Given the description of an element on the screen output the (x, y) to click on. 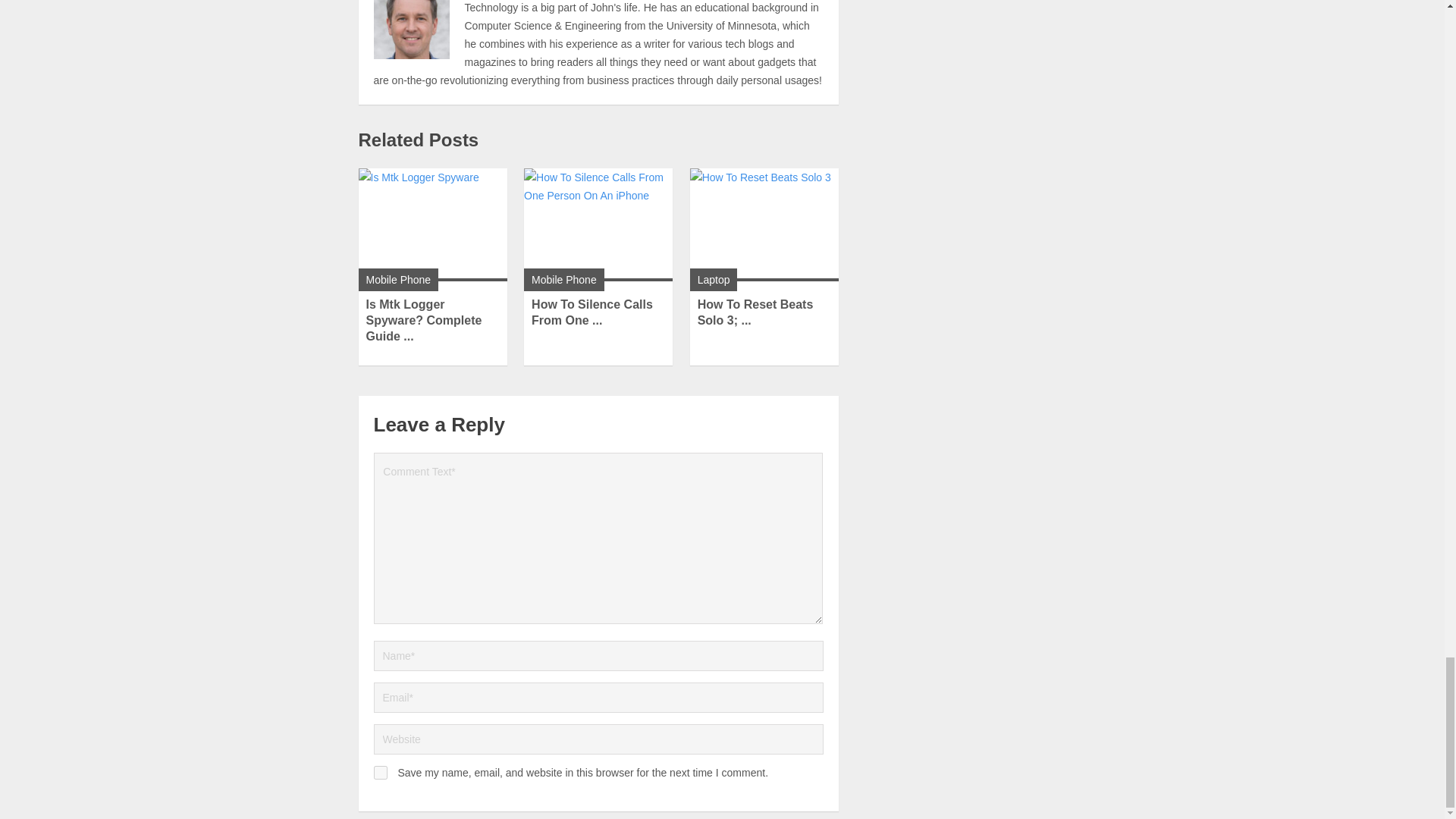
How To Silence Calls From One Person On An iPhone (591, 312)
View all posts in Mobile Phone (397, 279)
Is Mtk Logger Spyware? Complete Guide on All Things Malware (423, 320)
Is Mtk Logger Spyware? Complete Guide on All Things Malware (432, 224)
yes (379, 772)
Mobile Phone (563, 279)
Mobile Phone (397, 279)
How To Reset Beats Solo 3; ... (755, 312)
Is Mtk Logger Spyware? Complete Guide ... (423, 320)
How To Silence Calls From One Person On An iPhone (598, 224)
